Given the description of an element on the screen output the (x, y) to click on. 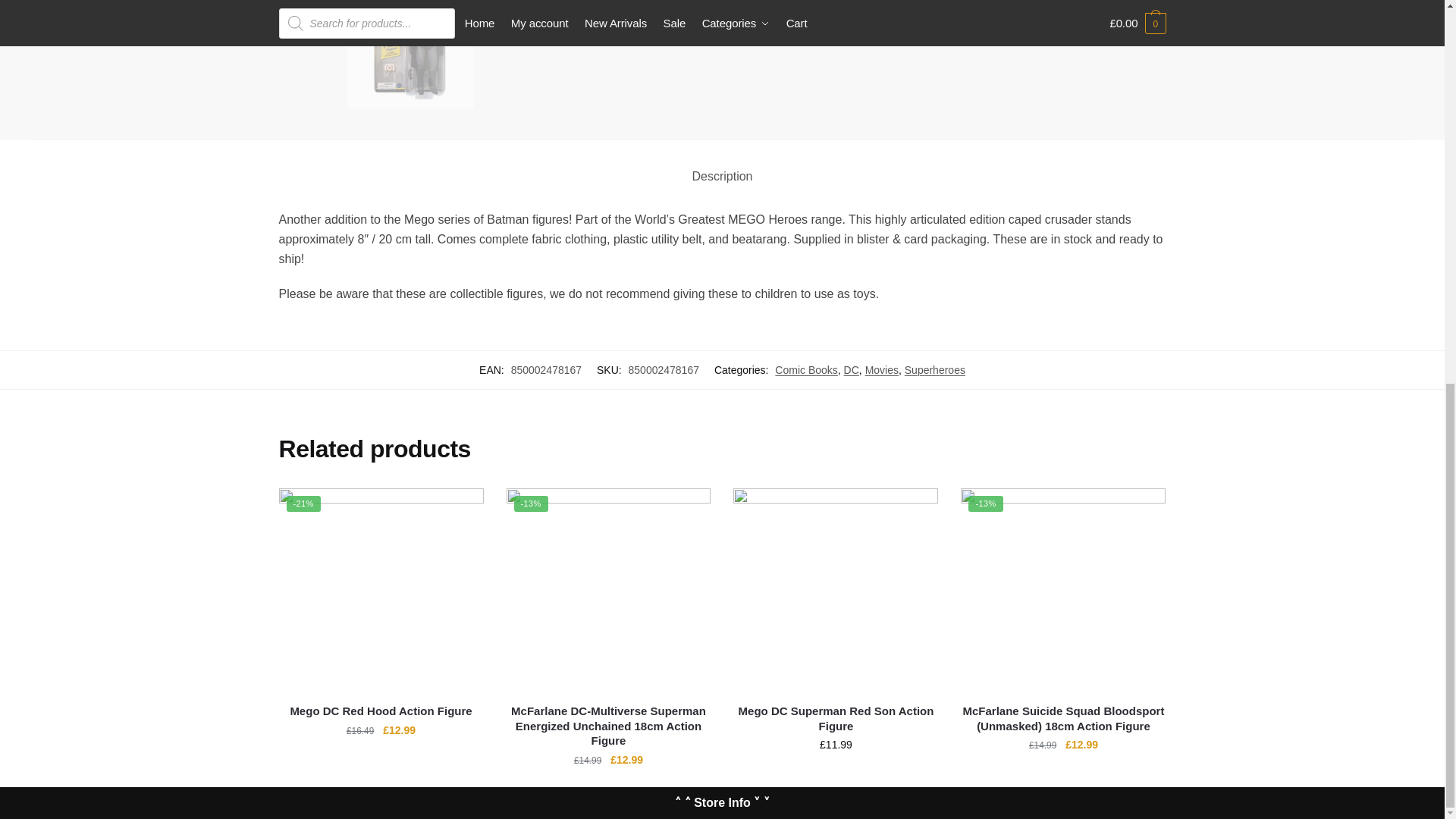
mego batman 1 (678, 54)
ZBLANK copy 306 (410, 54)
Mego DC Superman Red Son Action Figure (835, 590)
mego batman 2 (544, 54)
Mego DC Red Hood Action Figure (381, 590)
